Given the description of an element on the screen output the (x, y) to click on. 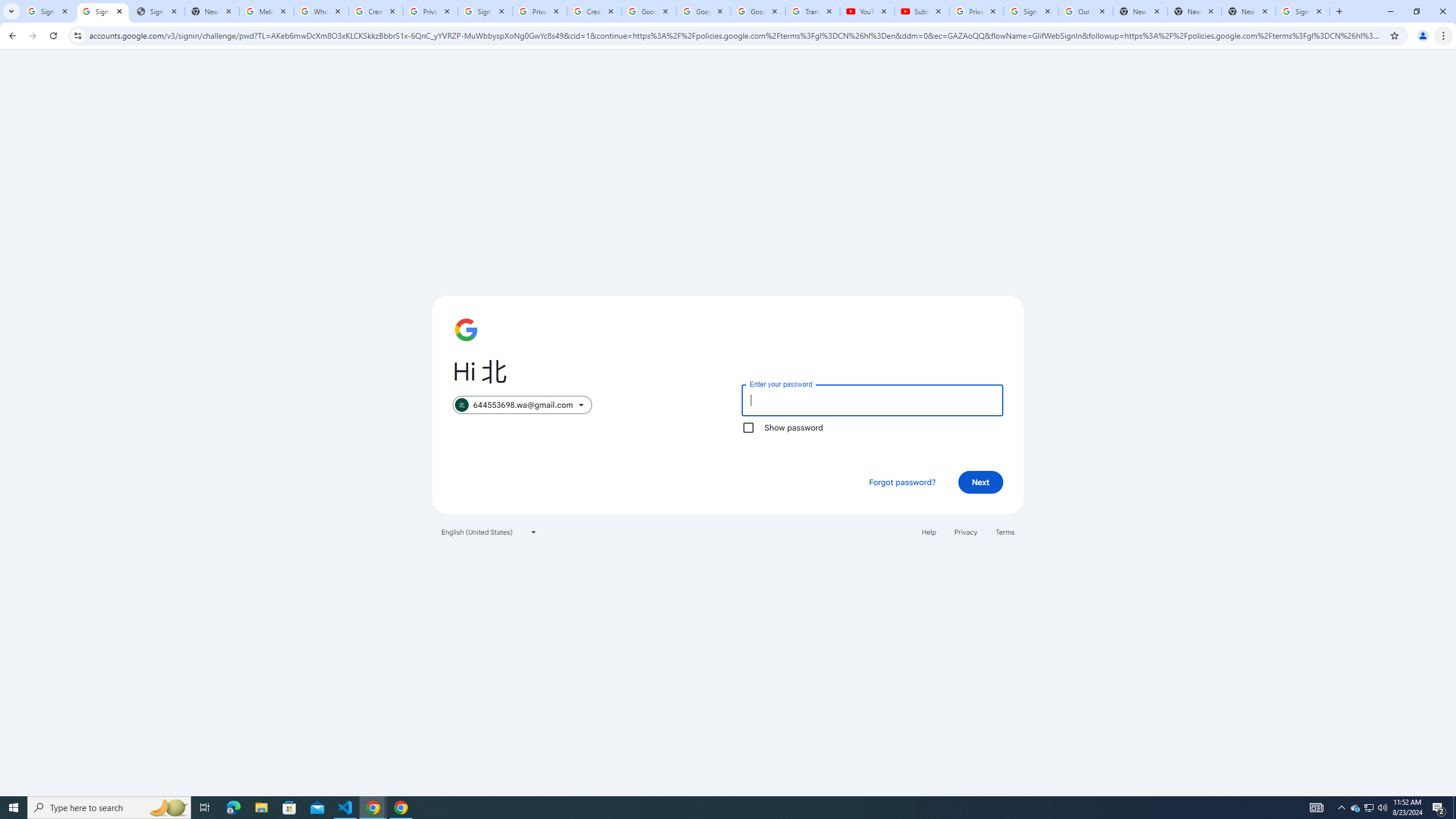
644553698.wa@gmail.com selected. Switch account (522, 404)
Sign in - Google Accounts (102, 11)
Subscriptions - YouTube (921, 11)
Privacy (965, 531)
Forgot password? (901, 481)
Help (928, 531)
Create your Google Account (594, 11)
